Given the description of an element on the screen output the (x, y) to click on. 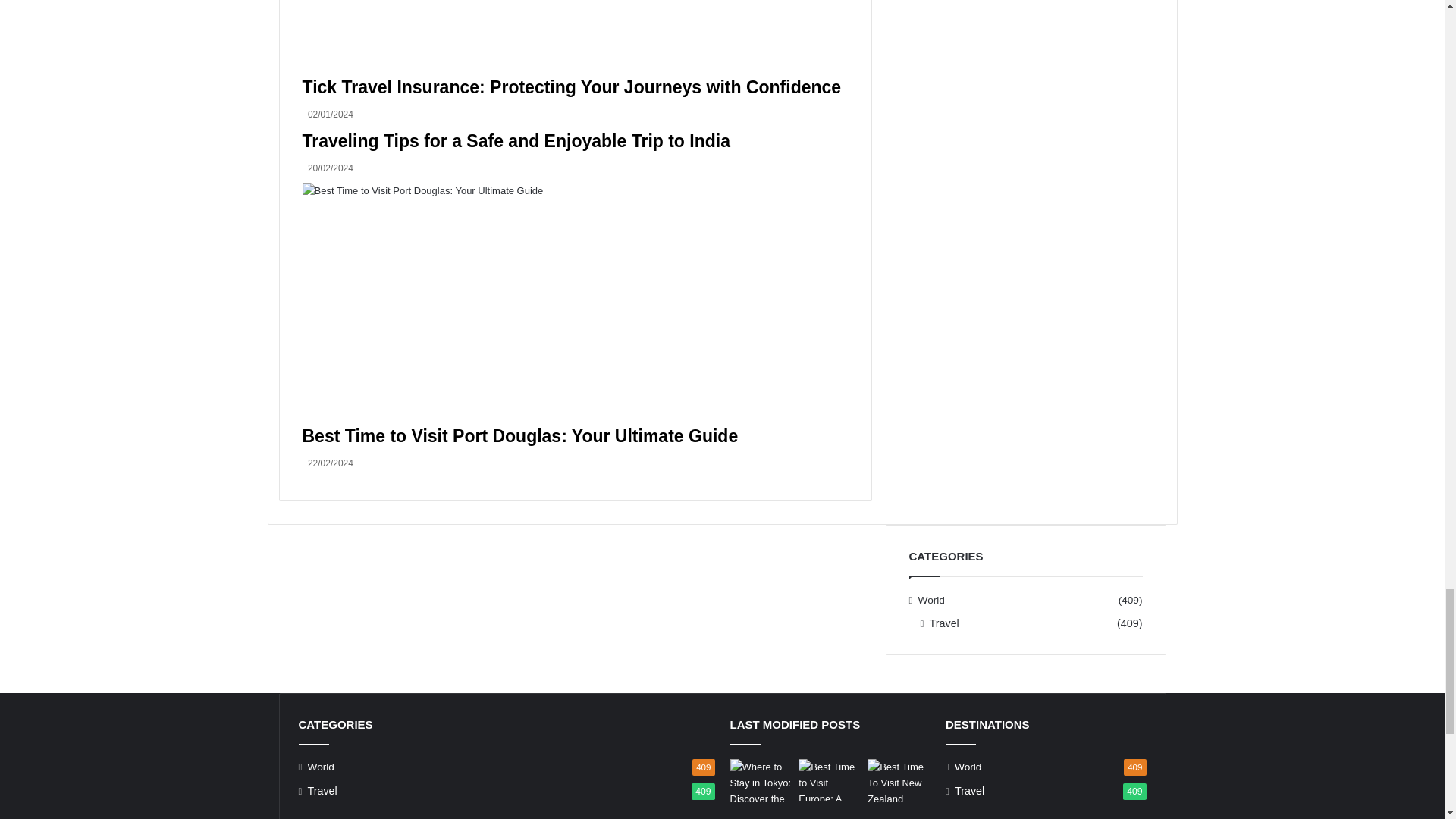
Best Time To Experience the Magic of New Zealand 11 (898, 786)
Best Time to Visit Port Douglas: Your Ultimate Guide 8 (574, 303)
Best Time to Visit Europe: A Season by Season Guide 10 (829, 779)
Where to Stay in Tokyo: Discover the Best Neighborhoods 9 (760, 781)
